Given the description of an element on the screen output the (x, y) to click on. 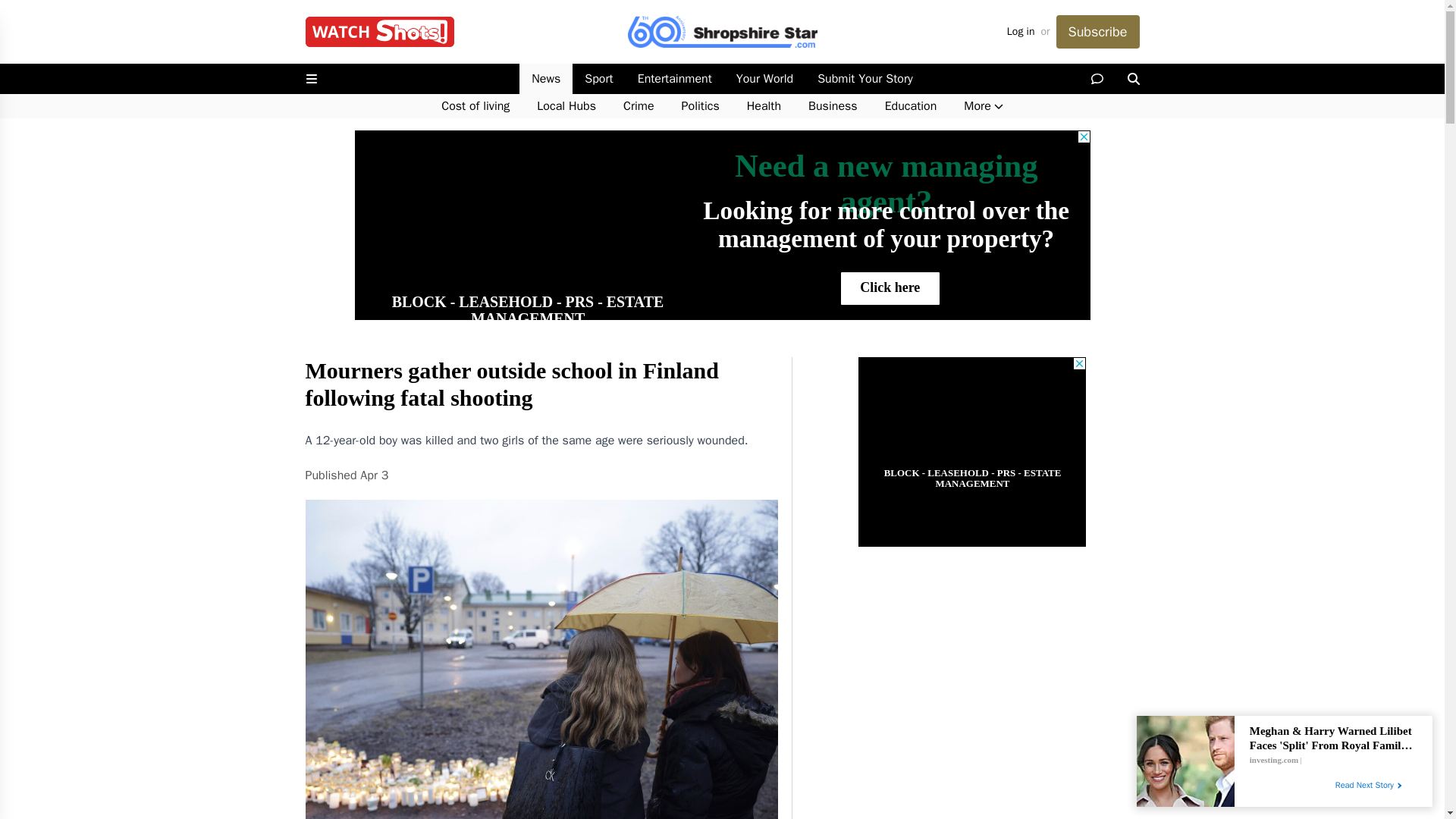
Crime (638, 105)
Subscribe (1096, 31)
Your World (764, 78)
Education (910, 105)
Business (832, 105)
Submit Your Story (864, 78)
More (983, 105)
Local Hubs (566, 105)
Log in (1021, 31)
Politics (700, 105)
Sport (598, 78)
News (545, 78)
Cost of living (475, 105)
Health (764, 105)
